Given the description of an element on the screen output the (x, y) to click on. 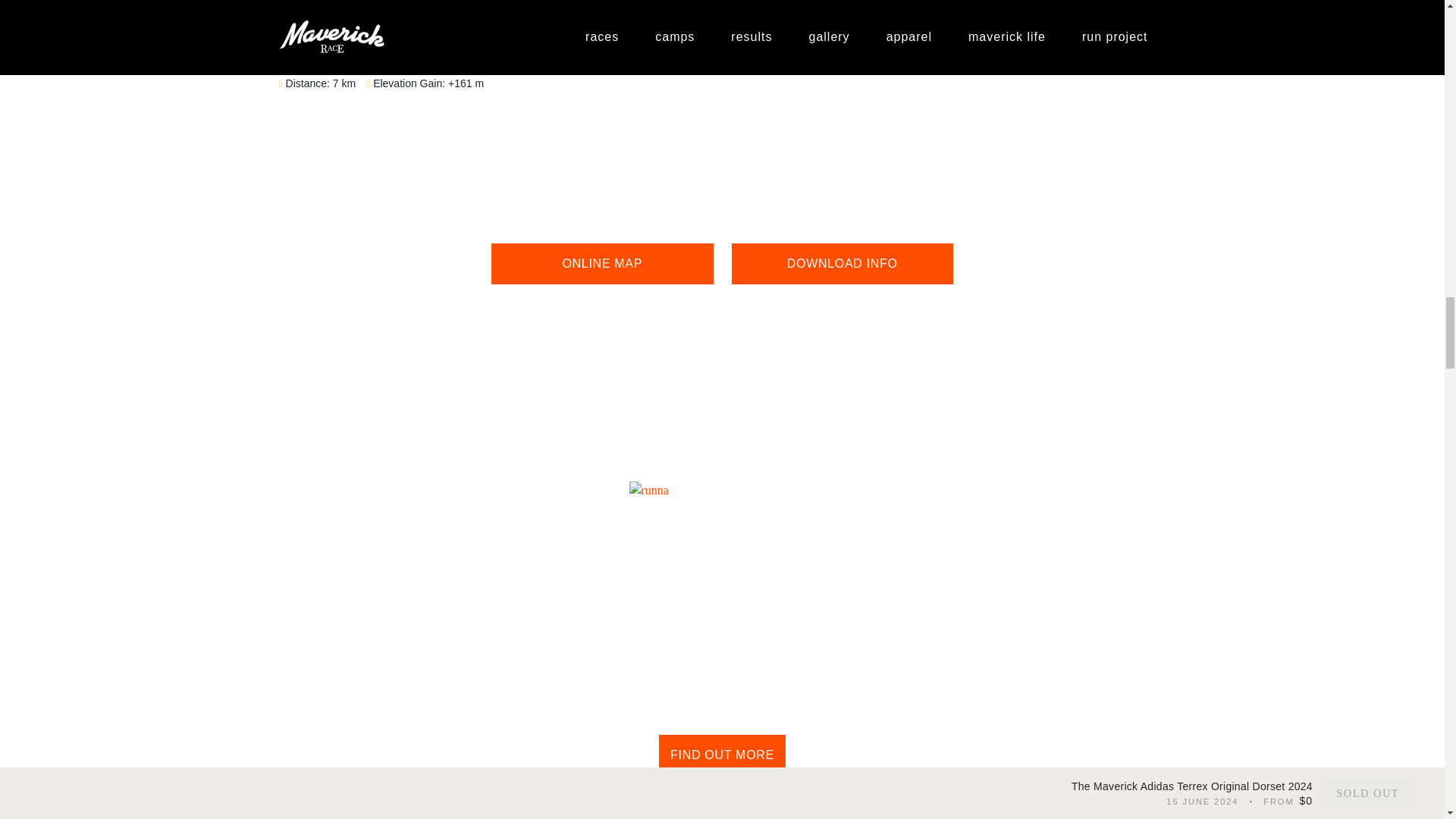
View route on Ordnance Survey Maps (1131, 58)
View the GPX track on a Google Map (602, 263)
View route on Ride With GPS (1063, 58)
